Given the description of an element on the screen output the (x, y) to click on. 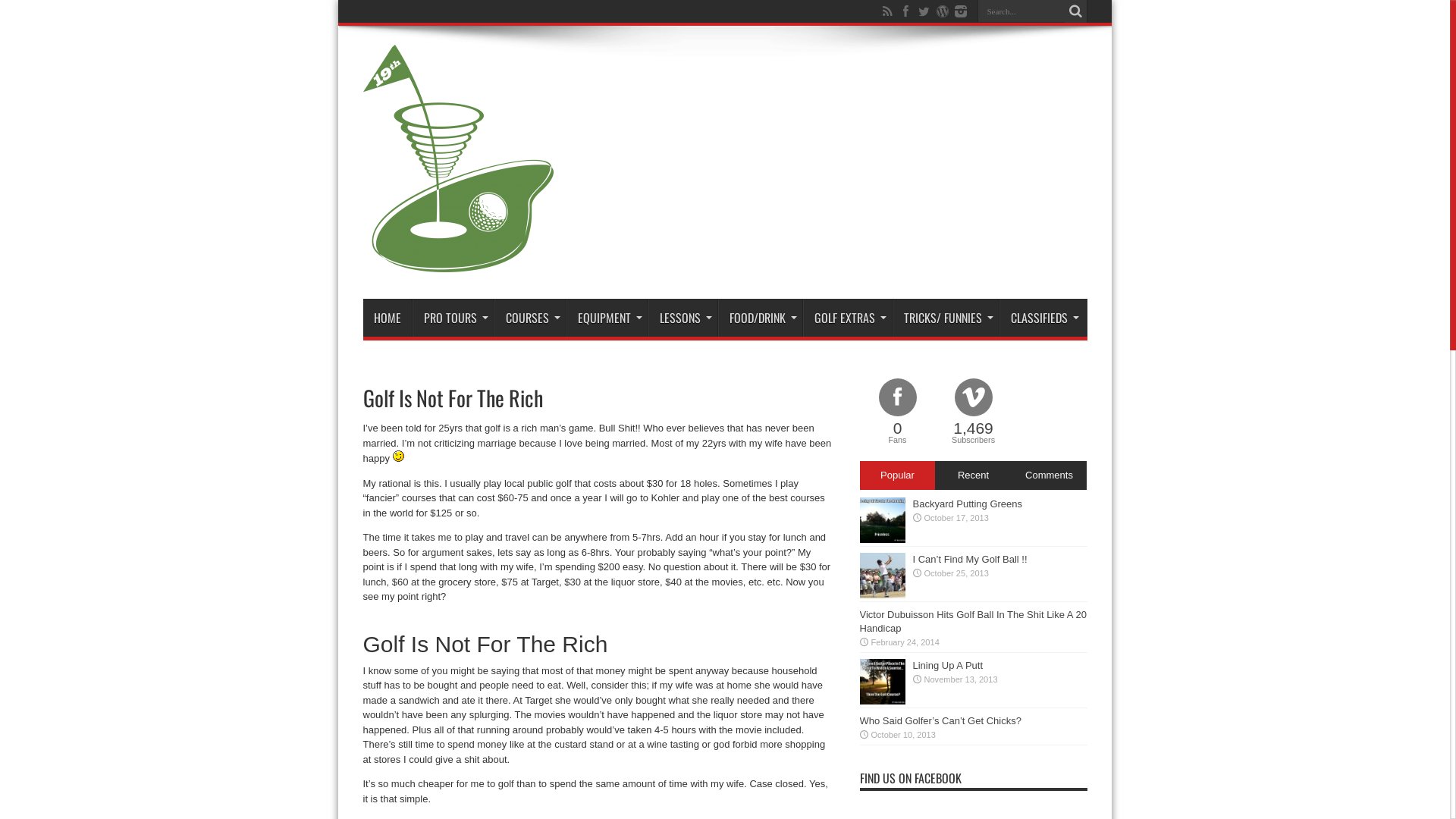
CLASSIFIEDS Element type: text (1041, 317)
Comments Element type: text (1048, 475)
COURSES Element type: text (529, 317)
19th Hole Golf Club Element type: hover (457, 260)
Lining Up A Putt Element type: text (948, 665)
GOLF EXTRAS Element type: text (846, 317)
Permalink to Lining Up A Putt Element type: hover (882, 700)
TRICKS/ FUNNIES Element type: text (944, 317)
PRO TOURS Element type: text (452, 317)
Permalink to Backyard Putting Greens Element type: hover (882, 539)
Search Element type: text (1075, 11)
Recent Element type: text (972, 475)
EQUIPMENT Element type: text (605, 317)
LESSONS Element type: text (681, 317)
1,469
Subscribers Element type: text (973, 411)
Popular Element type: text (897, 475)
Backyard Putting Greens Element type: text (967, 503)
HOME Element type: text (386, 317)
0
Fans Element type: text (897, 411)
FOOD/DRINK Element type: text (759, 317)
